Given the description of an element on the screen output the (x, y) to click on. 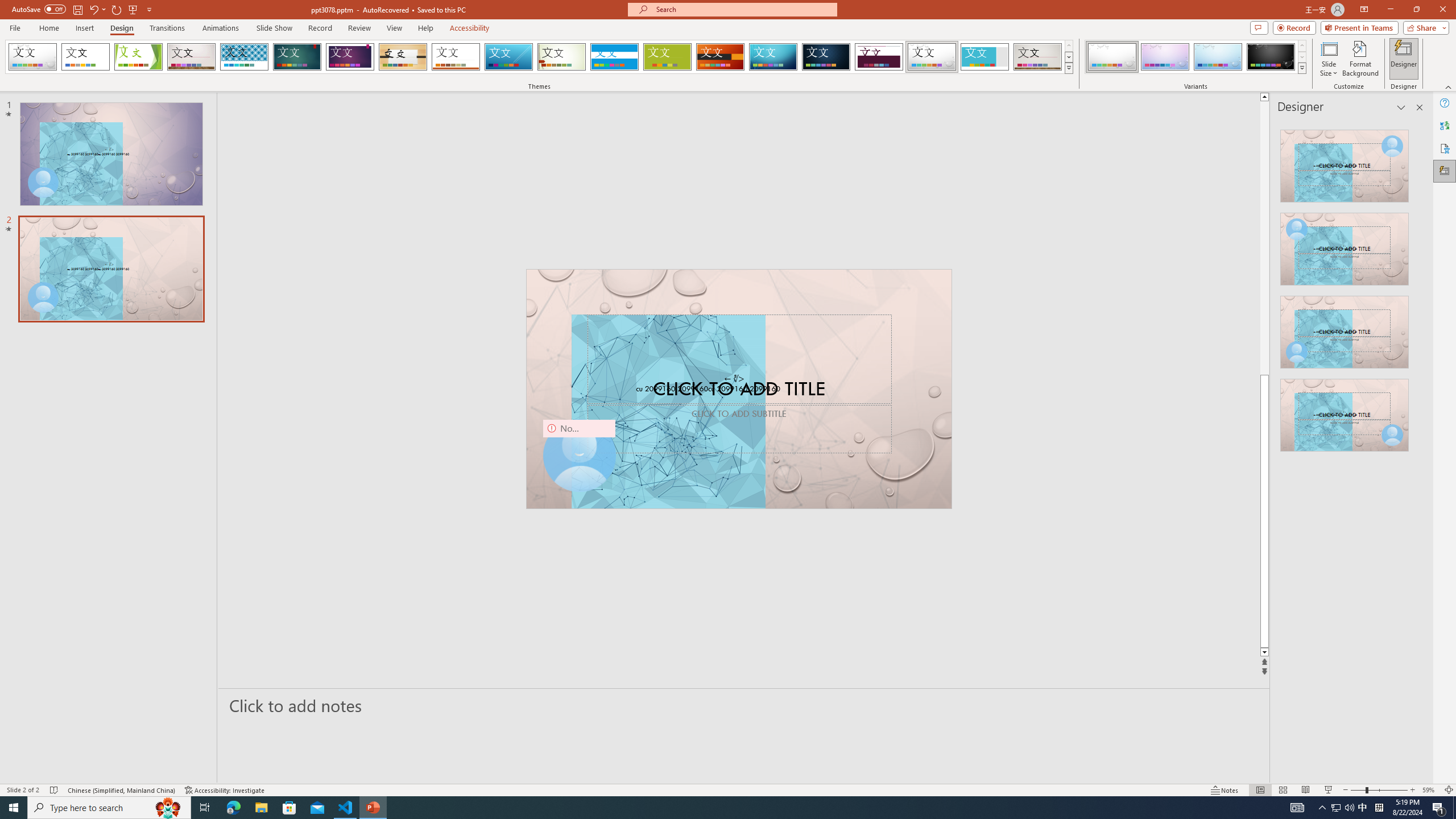
Ion (296, 56)
Facet (138, 56)
Banded (614, 56)
TextBox 61 (737, 389)
